Given the description of an element on the screen output the (x, y) to click on. 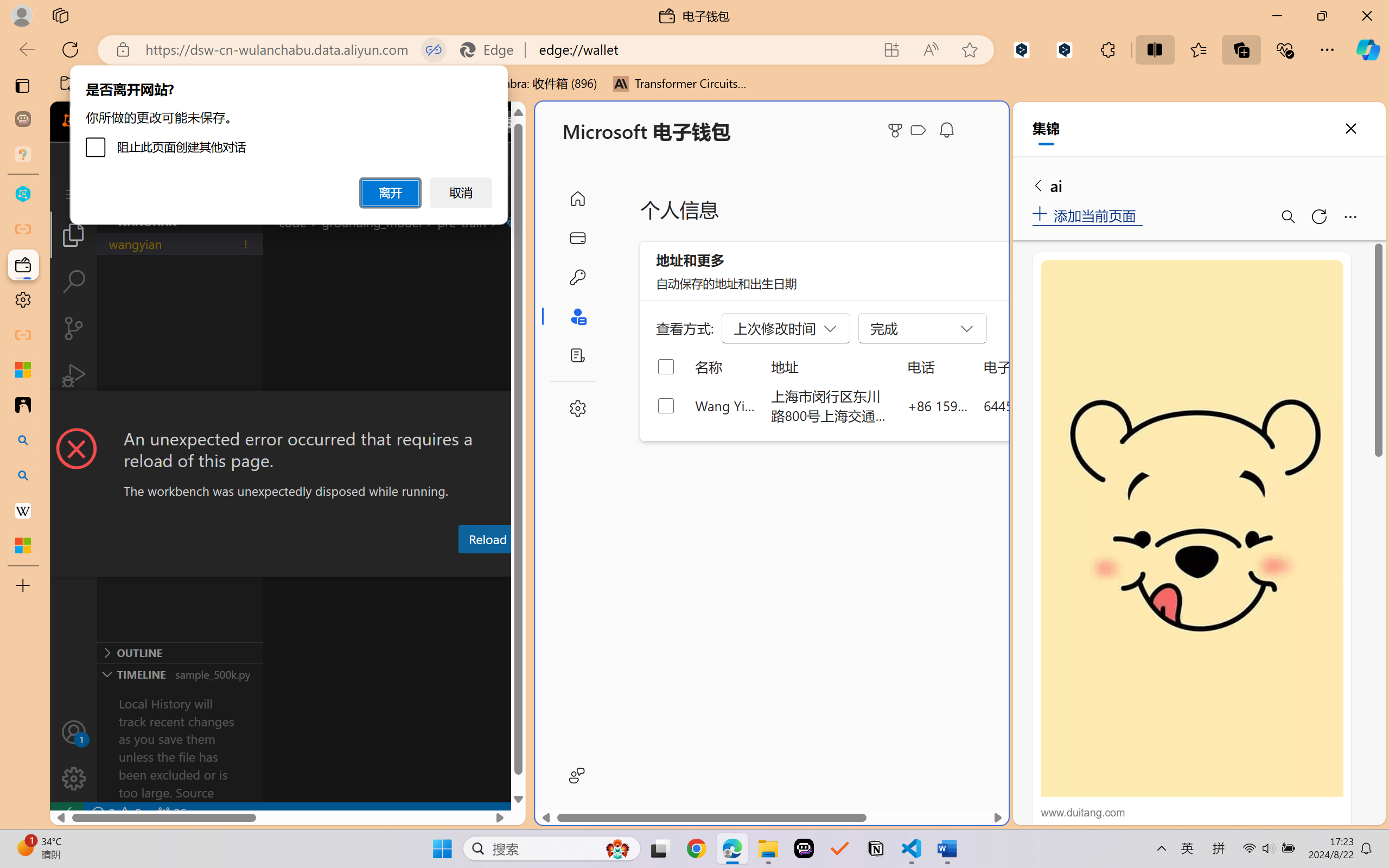
Terminal (Ctrl+`) (553, 565)
remote (66, 812)
Timeline Section (179, 673)
Manage (73, 755)
Close Dialog (520, 410)
Manage (73, 778)
Accounts - Sign in requested (73, 732)
